Given the description of an element on the screen output the (x, y) to click on. 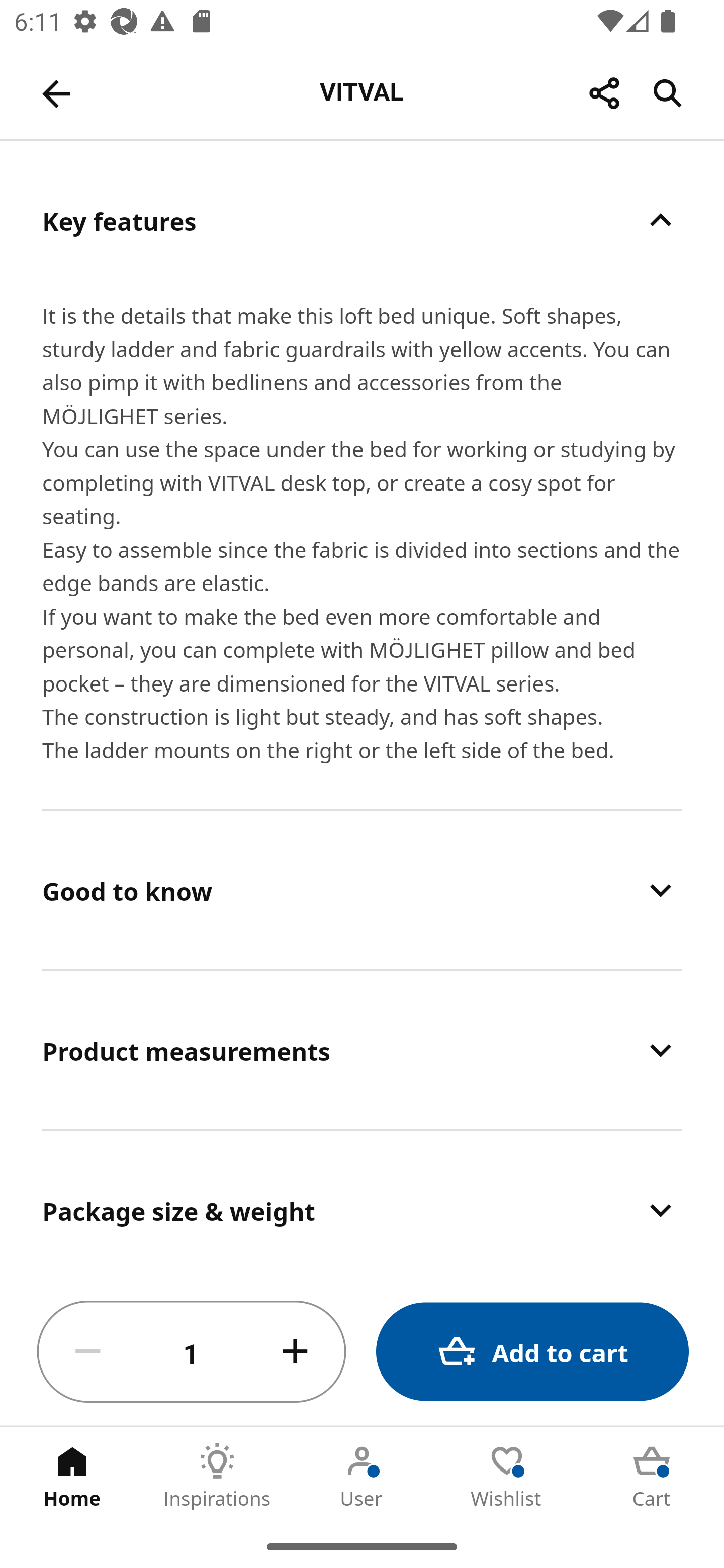
Key features (361, 219)
Good to know (361, 889)
Product measurements (361, 1050)
Package size & weight (361, 1204)
Add to cart (531, 1352)
1 (191, 1352)
Home
Tab 1 of 5 (72, 1476)
Inspirations
Tab 2 of 5 (216, 1476)
User
Tab 3 of 5 (361, 1476)
Wishlist
Tab 4 of 5 (506, 1476)
Cart
Tab 5 of 5 (651, 1476)
